Given the description of an element on the screen output the (x, y) to click on. 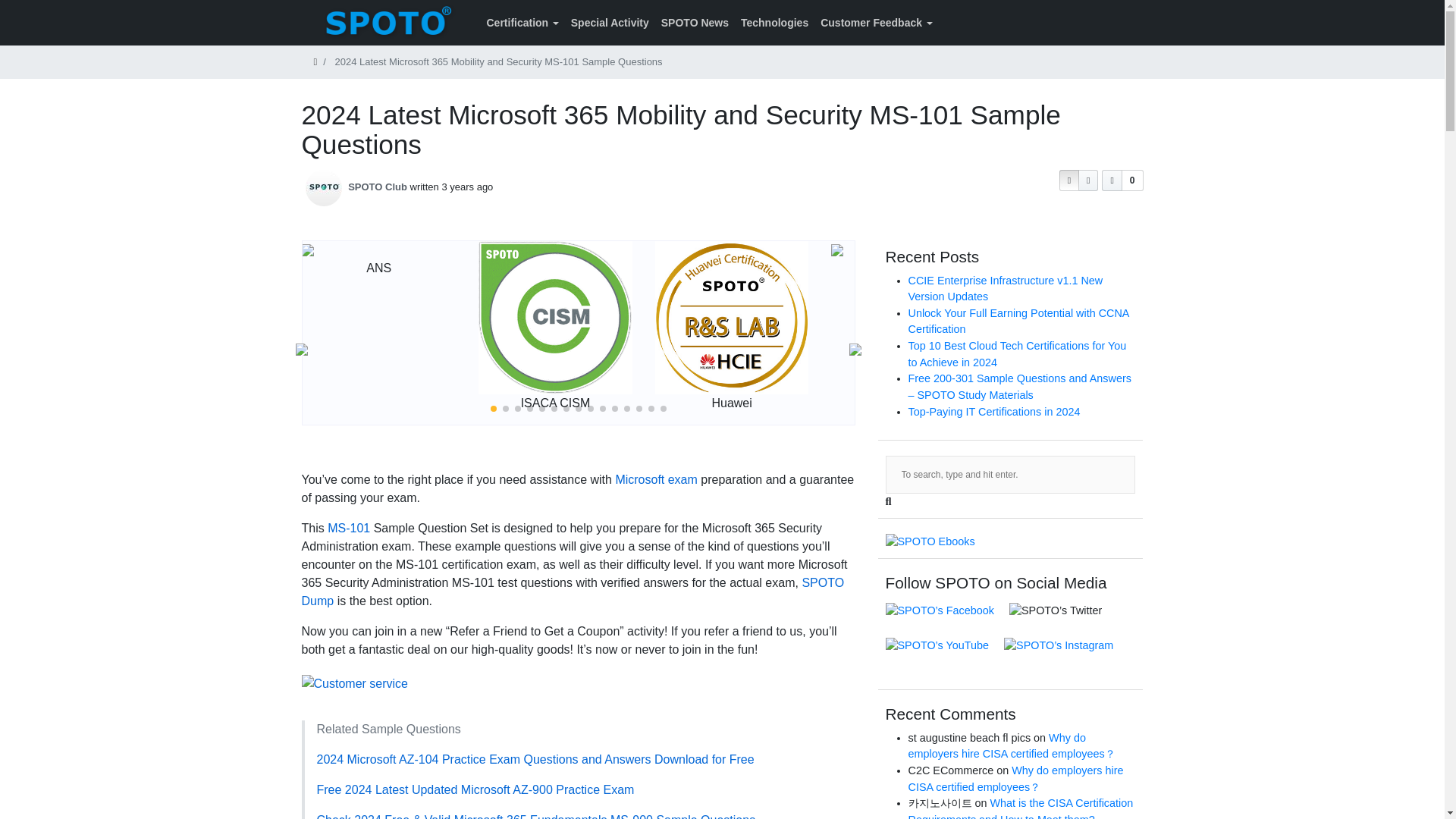
Customer Feedback (875, 22)
SPOTO News (695, 22)
Special Activity (609, 22)
Technologies (774, 22)
Certification (522, 22)
0 (1122, 179)
SPOTO Club (377, 186)
